Given the description of an element on the screen output the (x, y) to click on. 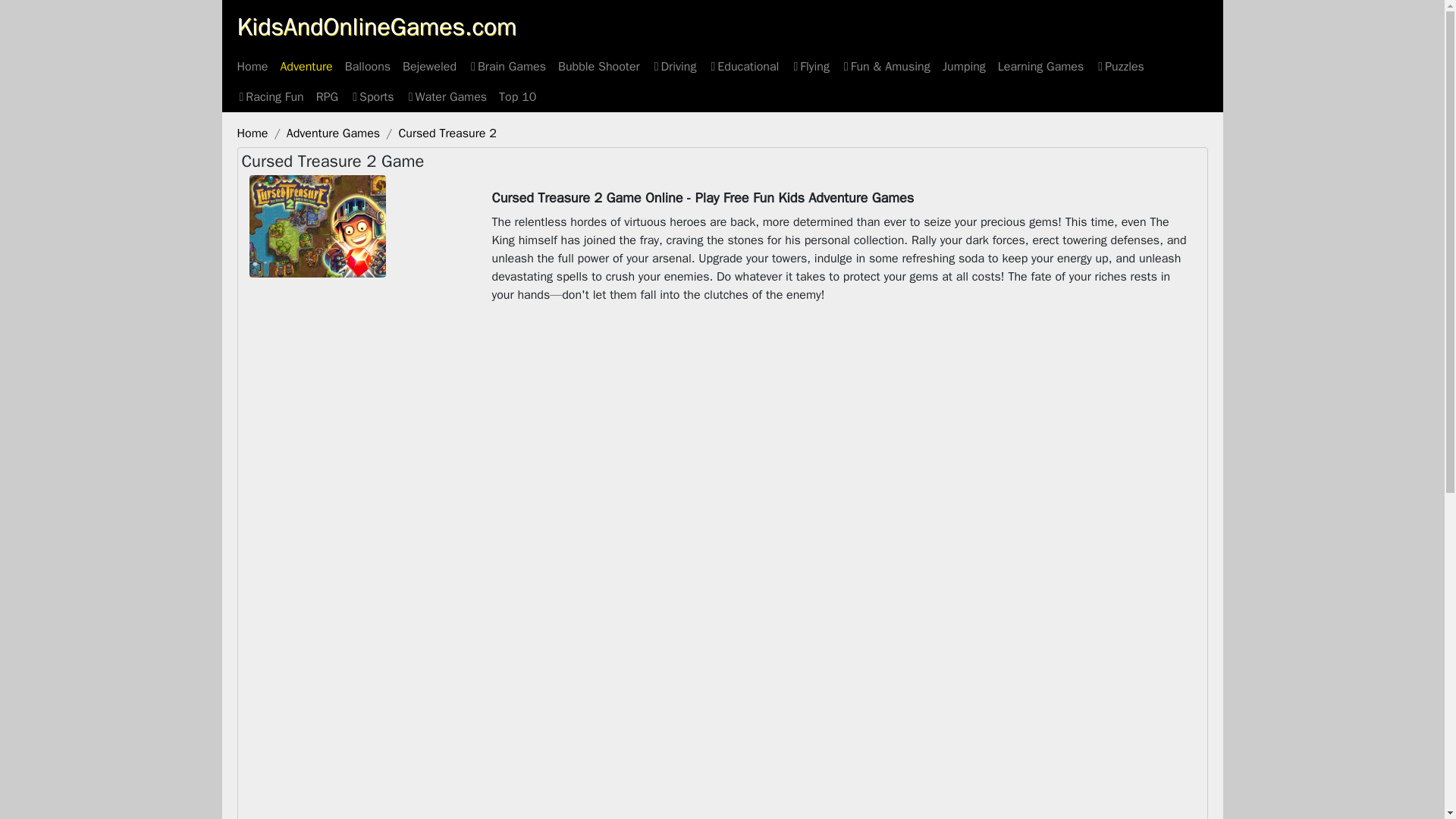
Balloons (367, 66)
Racing Fun (269, 96)
Bejeweled (429, 66)
Adventure Games (333, 133)
Bubble Shooter (598, 66)
Cursed Treasure 2 (446, 133)
Educational (742, 66)
Driving (674, 66)
Top 10 (517, 96)
Home (251, 66)
